Given the description of an element on the screen output the (x, y) to click on. 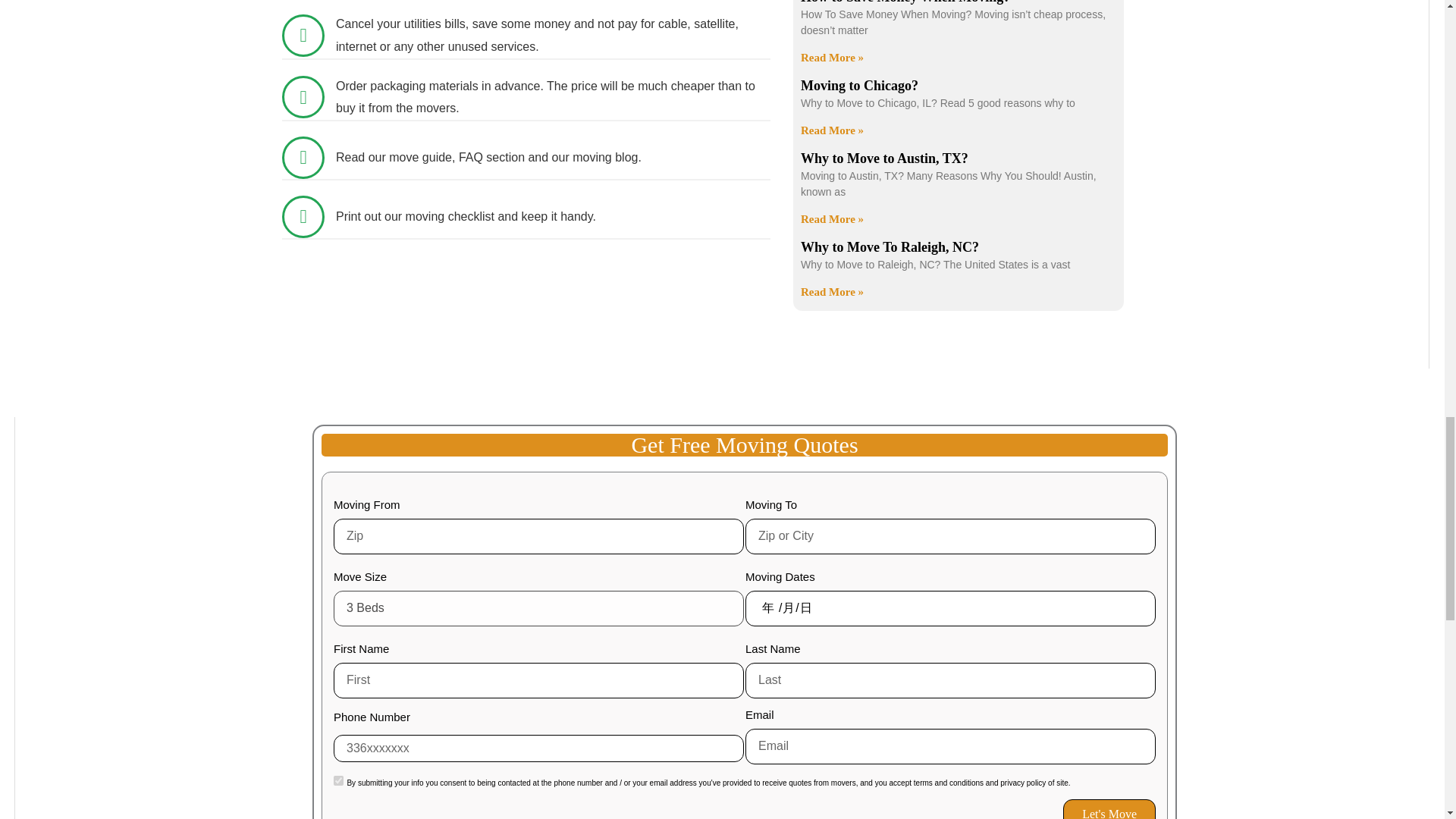
on (338, 780)
